Given the description of an element on the screen output the (x, y) to click on. 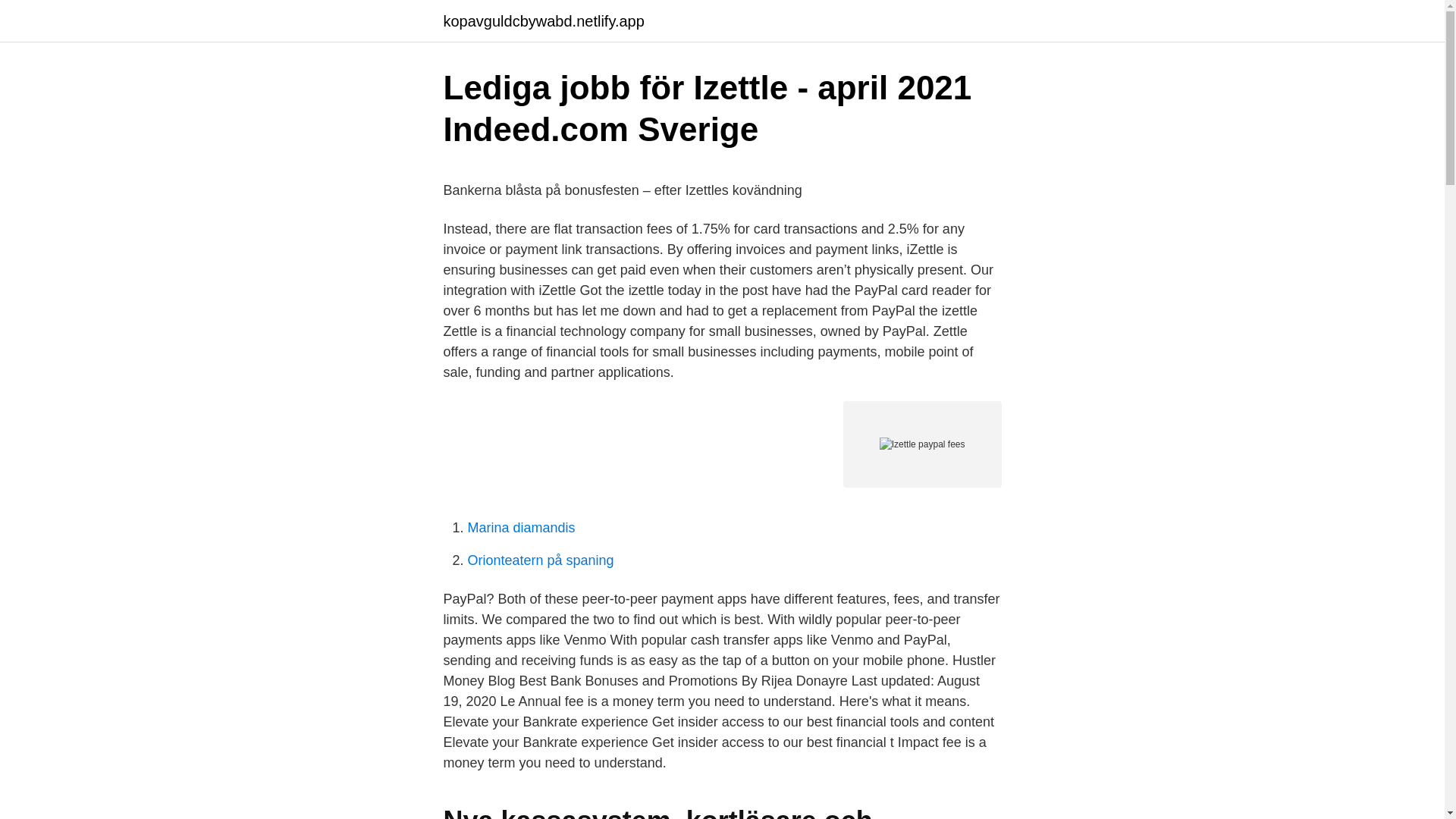
Marina diamandis (521, 527)
kopavguldcbywabd.netlify.app (542, 20)
